Given the description of an element on the screen output the (x, y) to click on. 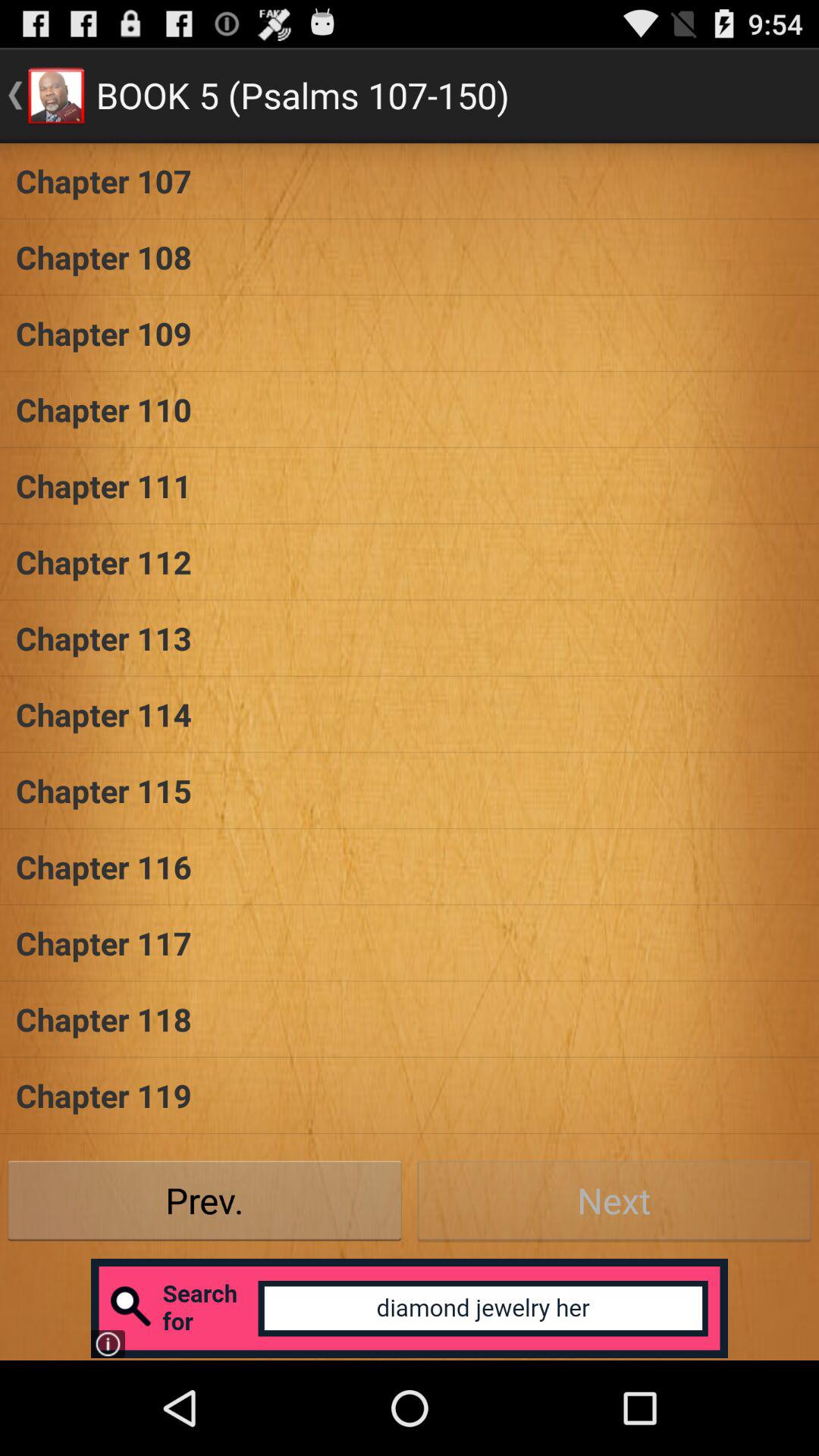
open advertisement for search tool (409, 1308)
